Given the description of an element on the screen output the (x, y) to click on. 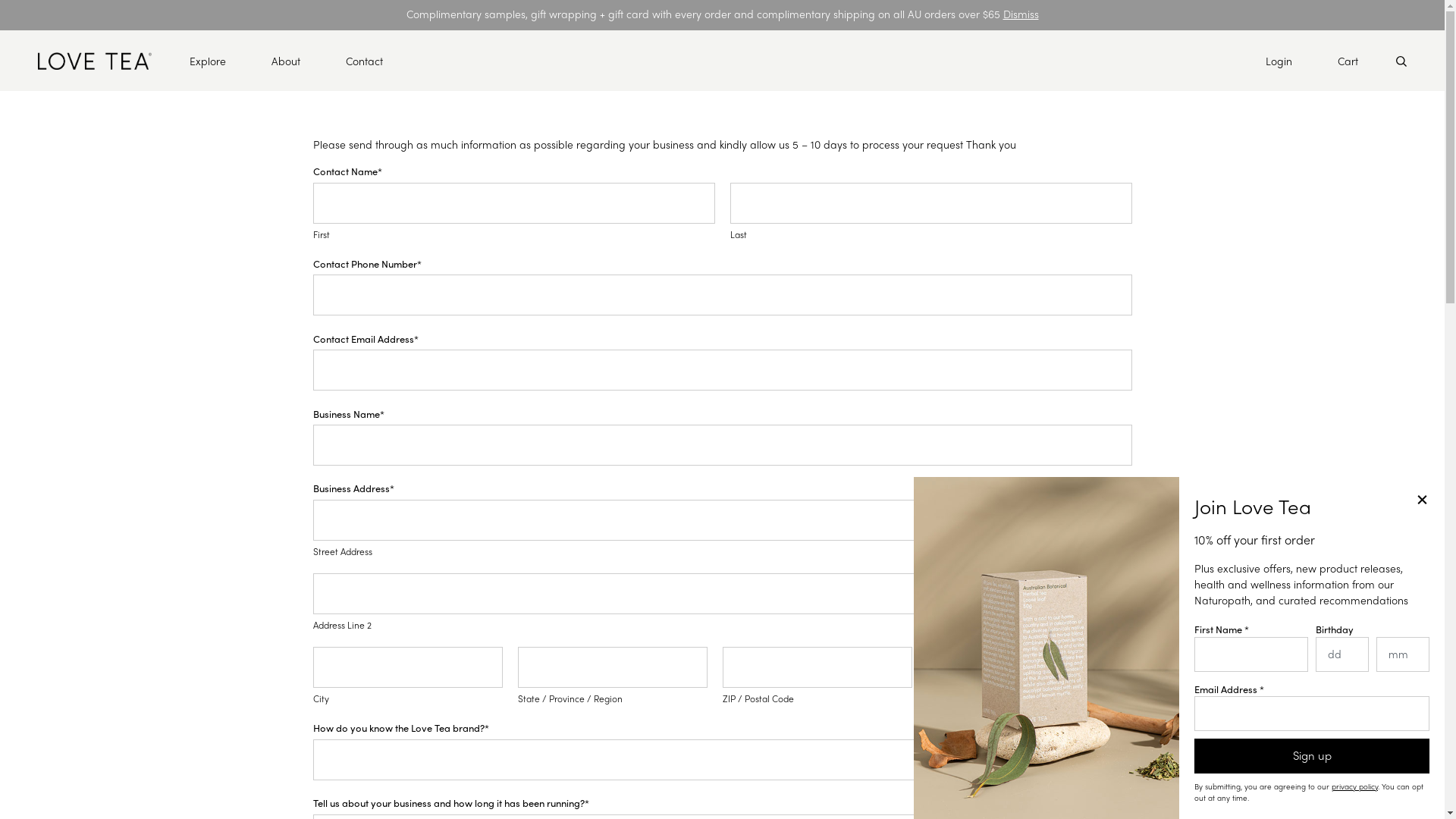
About Element type: text (285, 60)
Dismiss Element type: text (1020, 13)
privacy policy Element type: text (1354, 786)
Contact Element type: text (363, 60)
Explore Element type: text (207, 60)
Sign up Element type: text (1311, 755)
Cart Element type: text (1347, 60)
Login Element type: text (1278, 60)
